Given the description of an element on the screen output the (x, y) to click on. 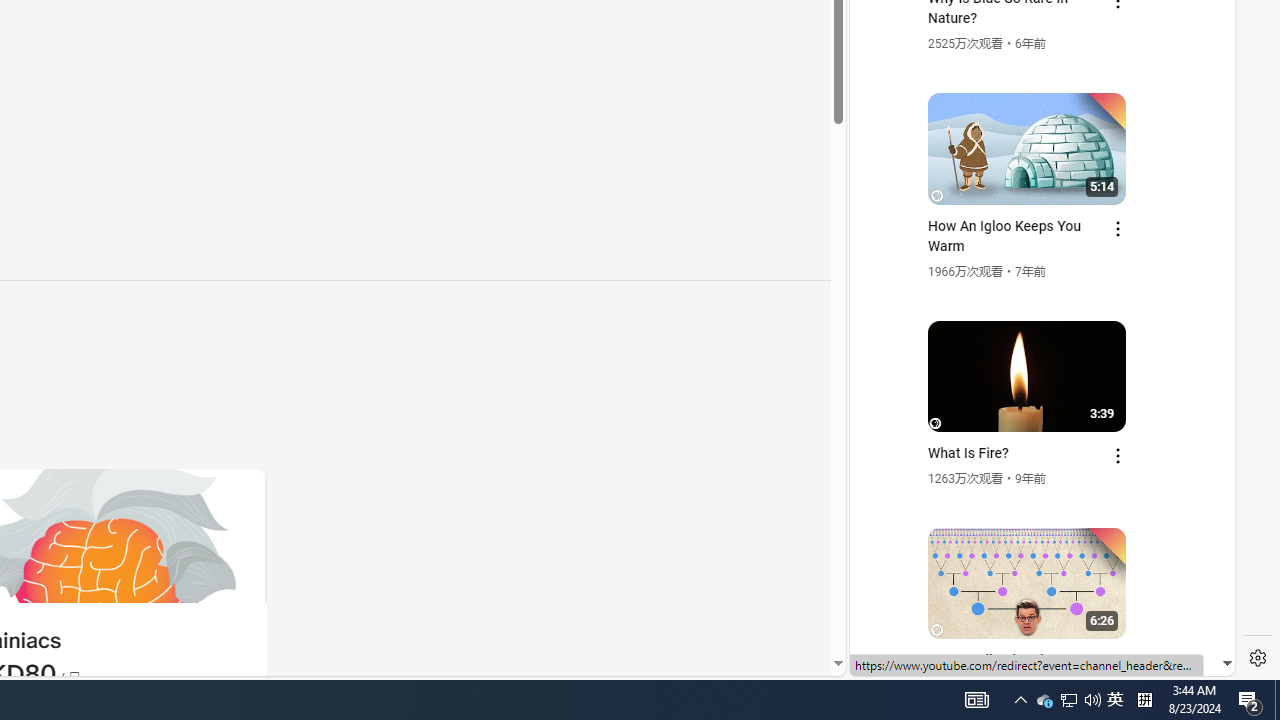
Click to scroll right (1196, 83)
